Given the description of an element on the screen output the (x, y) to click on. 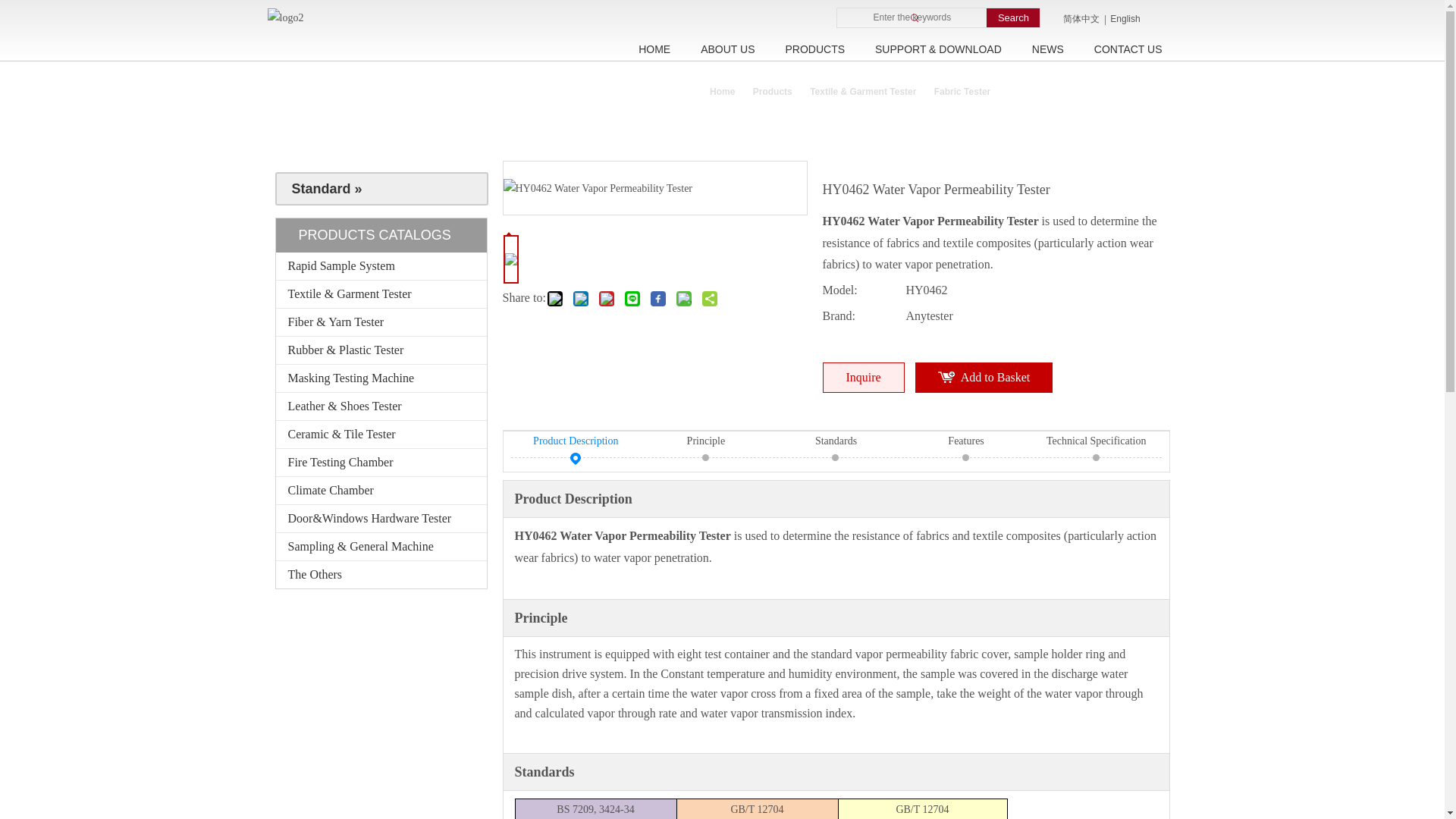
PRODUCTS (815, 48)
English (1124, 19)
ABOUT US (727, 48)
NEWS (1047, 48)
CONTACT US (1127, 48)
HOME (654, 48)
Rapid Sample System (381, 266)
Search (1013, 17)
